Given the description of an element on the screen output the (x, y) to click on. 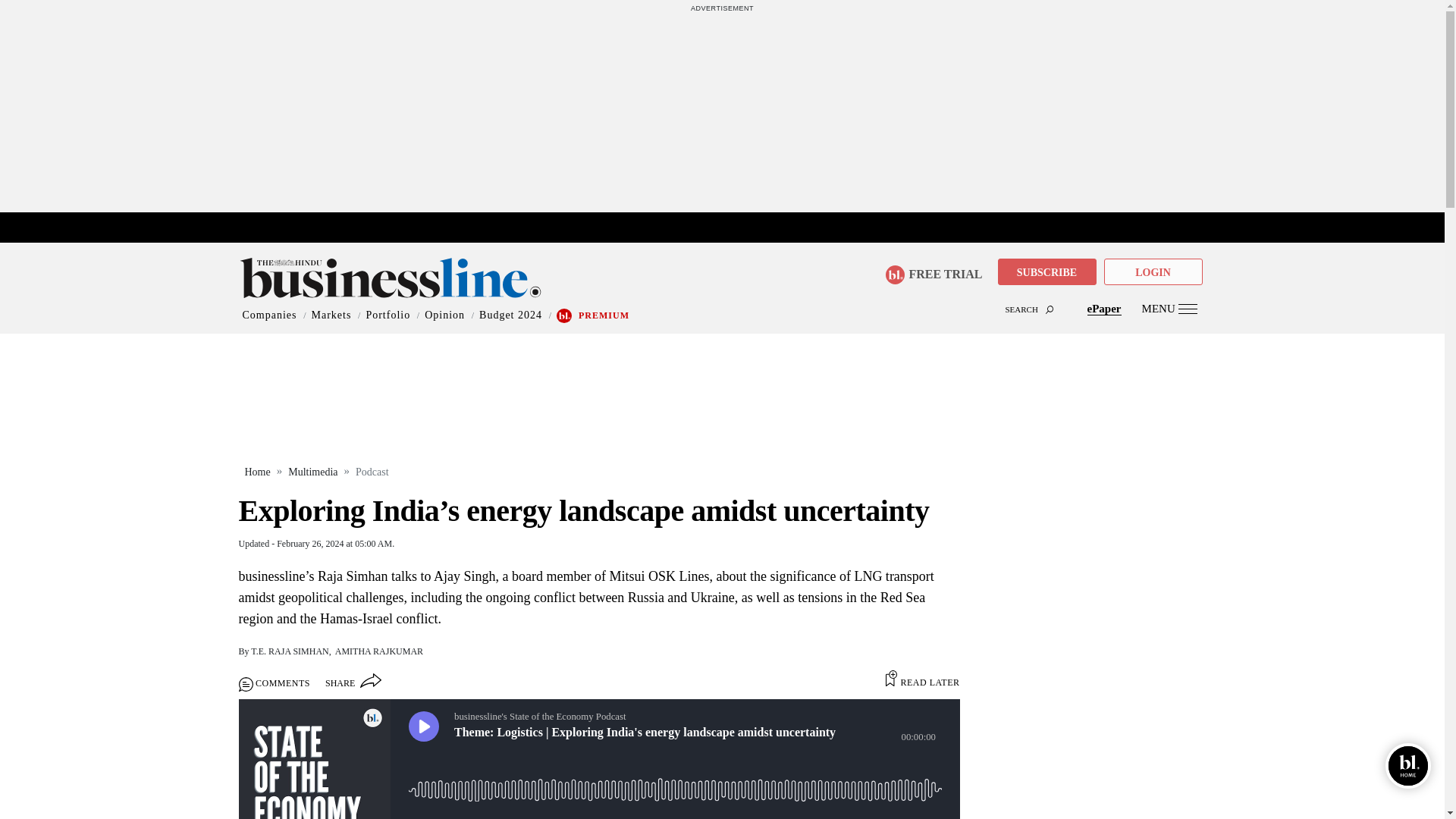
PREMIUM (603, 315)
FREE TRIAL (938, 269)
FREE TRIAL (933, 275)
SUBSCRIBE (1046, 272)
Companies (270, 315)
MENU (1168, 308)
Markets (330, 315)
marketupdate (729, 228)
SUBSCRIBE (1046, 270)
LOGIN (1152, 270)
ePaper (1104, 308)
Budget 2024 (510, 315)
Portfolio (387, 315)
Opinion (444, 315)
